Given the description of an element on the screen output the (x, y) to click on. 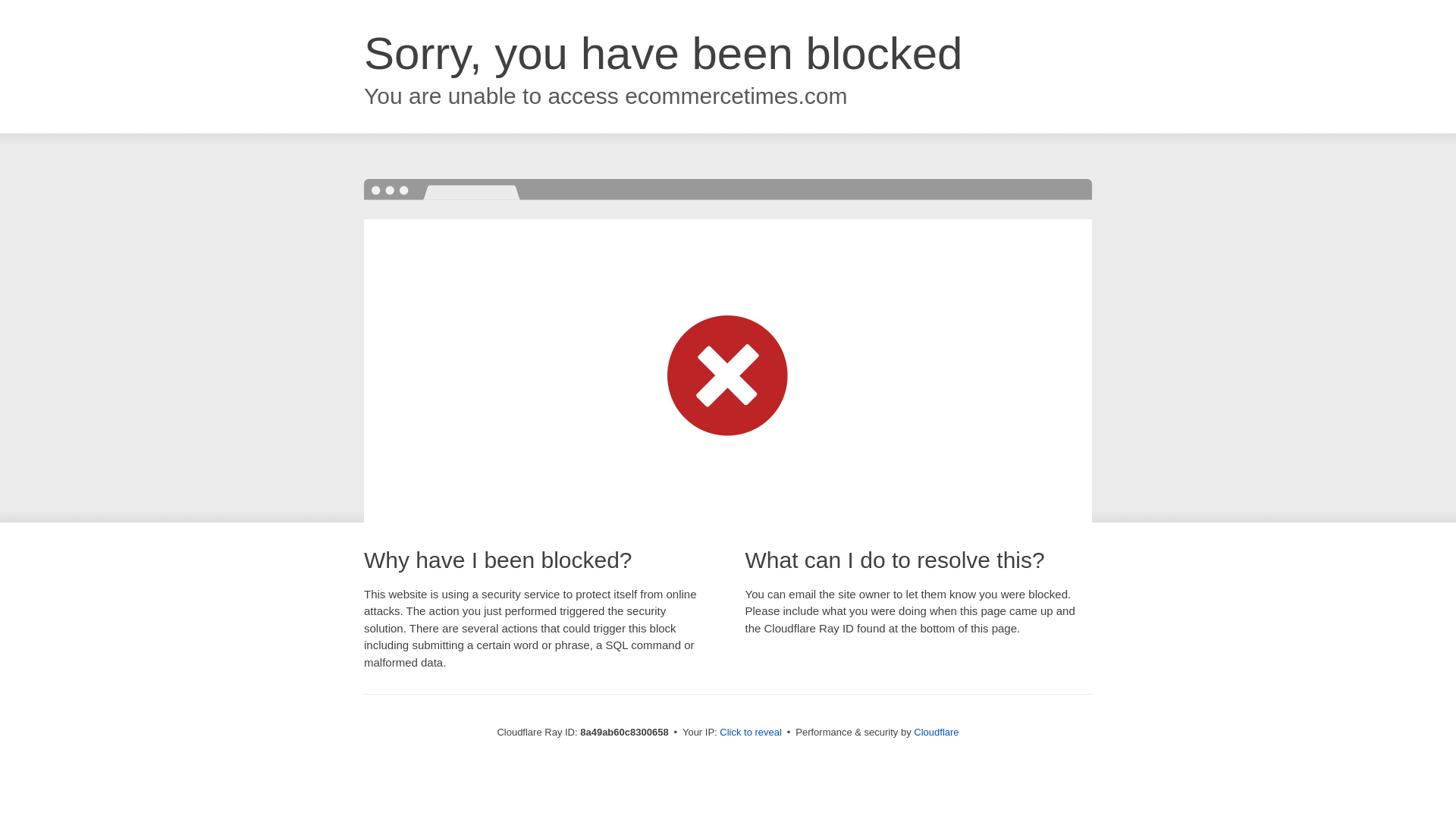
Cloudflare (936, 731)
Click to reveal (750, 732)
